Given the description of an element on the screen output the (x, y) to click on. 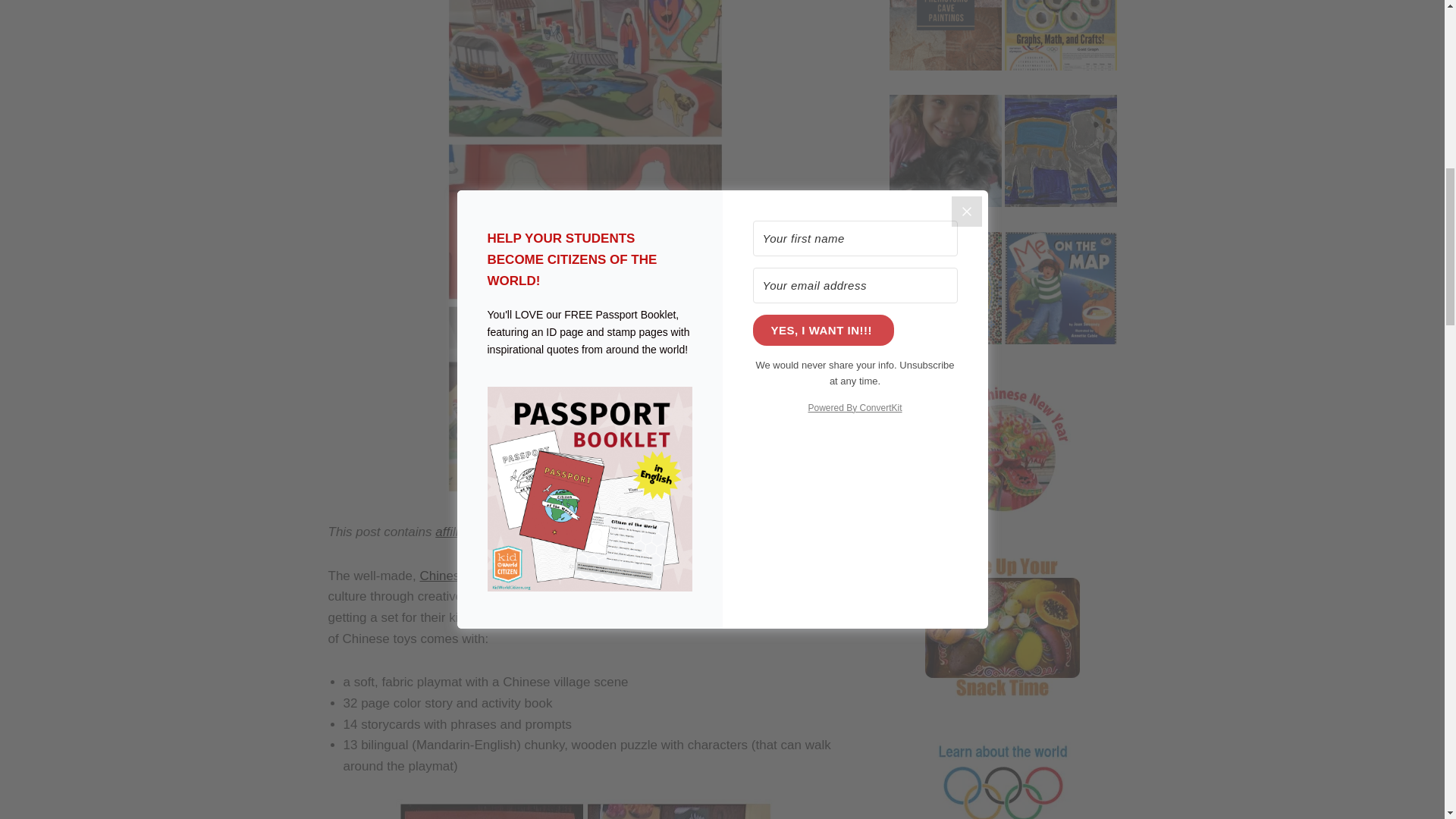
affiliate links. (471, 531)
Chinese World Village Playset (505, 575)
Learn about and Visit Early Human Cave Paintings (944, 46)
Olympics Activities for Kids (1060, 46)
